Given the description of an element on the screen output the (x, y) to click on. 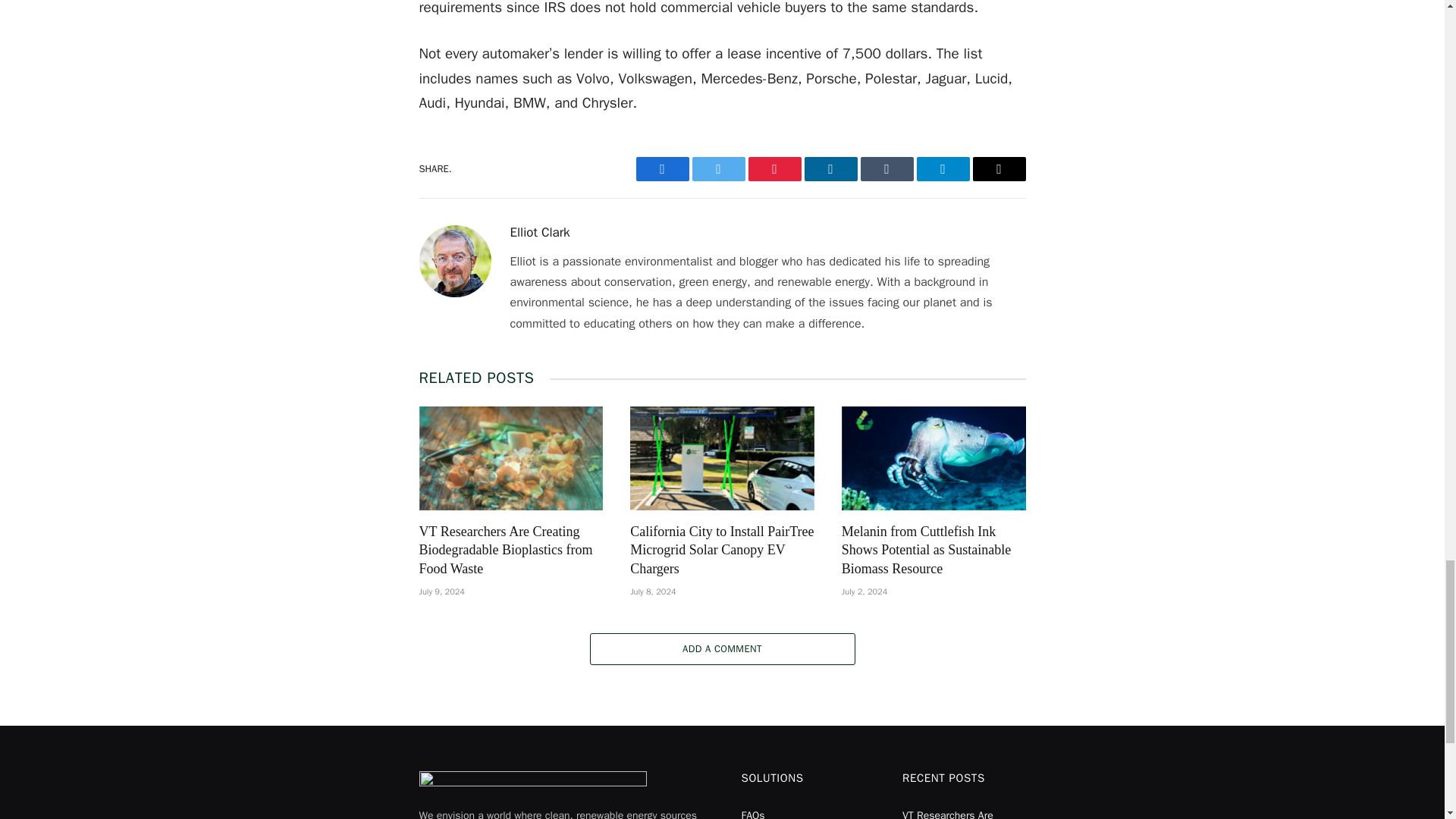
Facebook (661, 168)
Share on LinkedIn (830, 168)
Telegram (942, 168)
Pinterest (774, 168)
Share on Pinterest (774, 168)
Email (998, 168)
LinkedIn (830, 168)
Twitter (717, 168)
Share via Email (998, 168)
